Given the description of an element on the screen output the (x, y) to click on. 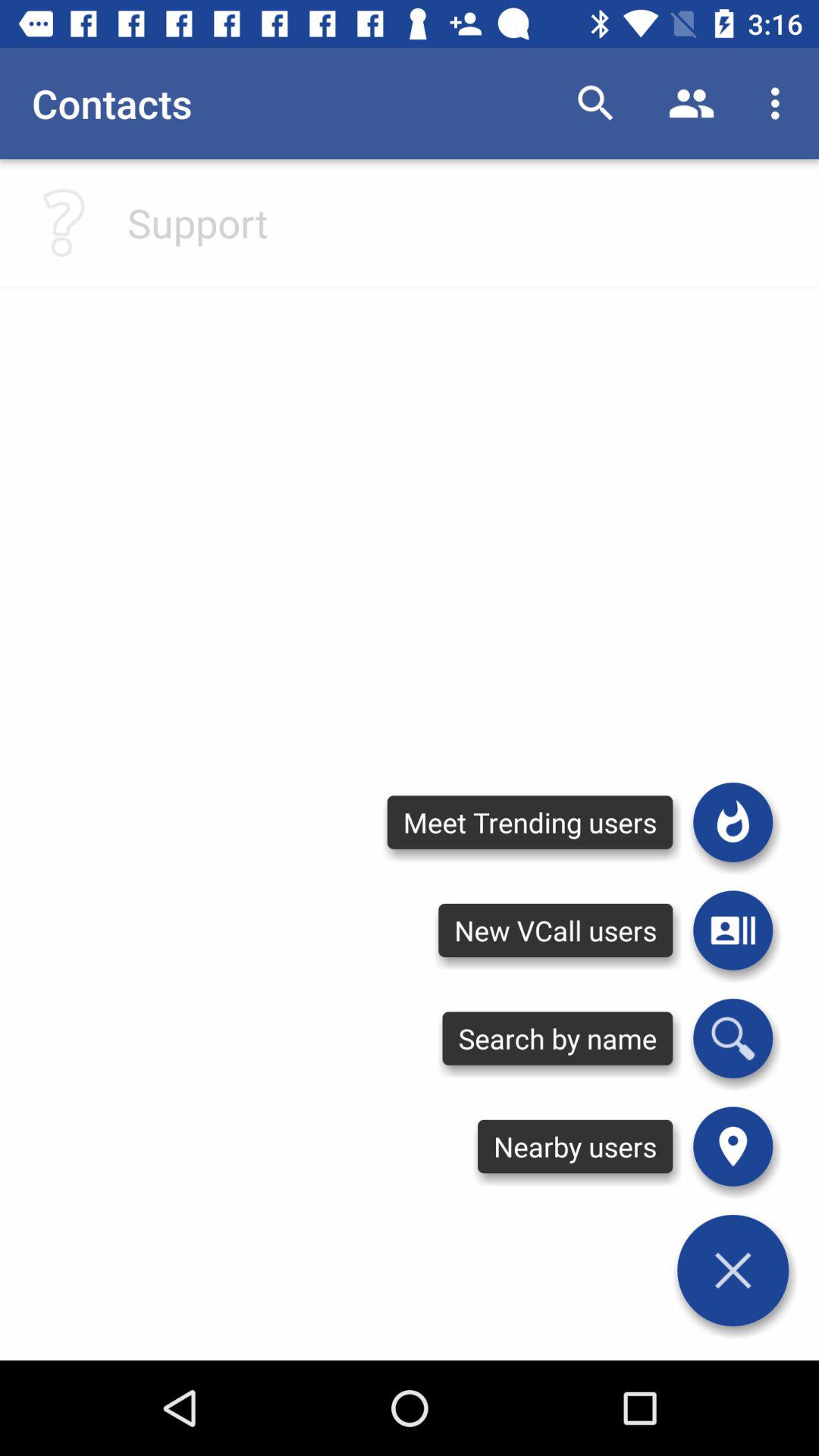
add new vcall users (733, 930)
